Given the description of an element on the screen output the (x, y) to click on. 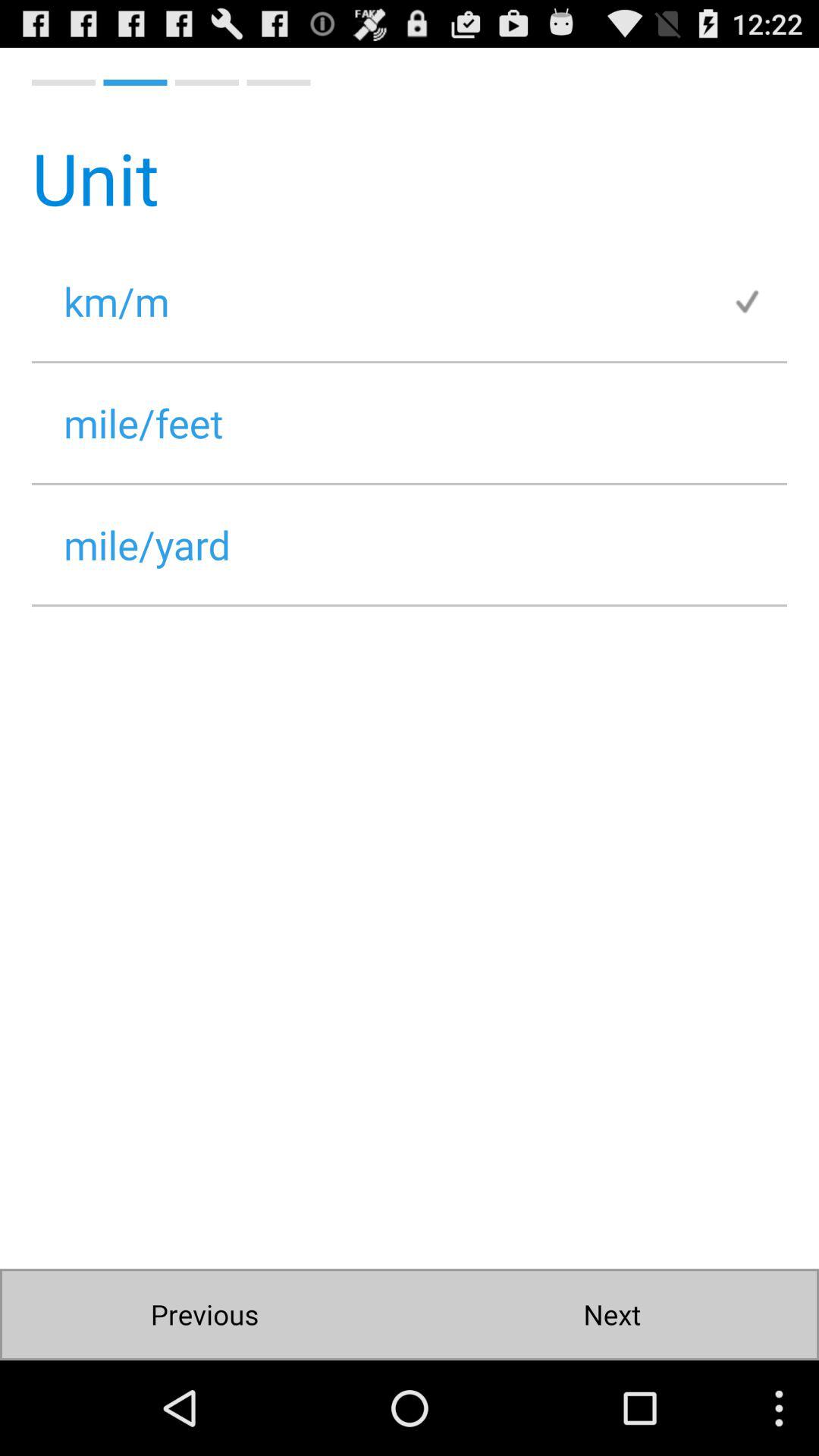
press icon above mile/feet (381, 300)
